Given the description of an element on the screen output the (x, y) to click on. 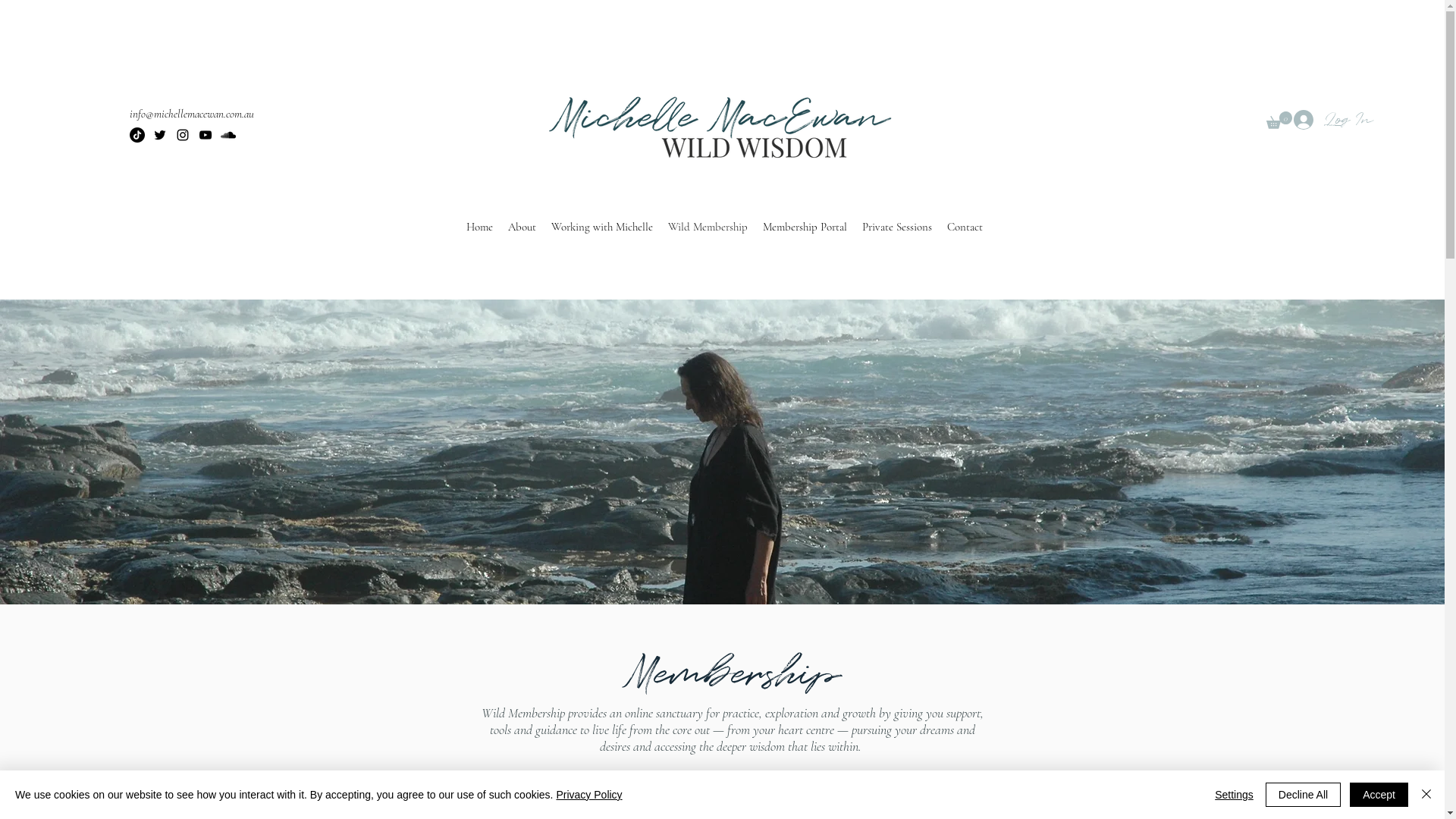
Decline All Element type: text (1302, 794)
Accept Element type: text (1378, 794)
Membership Portal Element type: text (804, 226)
Home Element type: text (479, 226)
Wild Membership Element type: text (707, 226)
Privacy Policy Element type: text (588, 794)
0 Element type: text (1279, 119)
info@michellemacewan.com.au Element type: text (191, 113)
Private Sessions Element type: text (896, 226)
Working with Michelle Element type: text (601, 226)
About Element type: text (521, 226)
Logo Element type: hover (724, 123)
Log In Element type: text (1333, 119)
Contact Element type: text (964, 226)
